Given the description of an element on the screen output the (x, y) to click on. 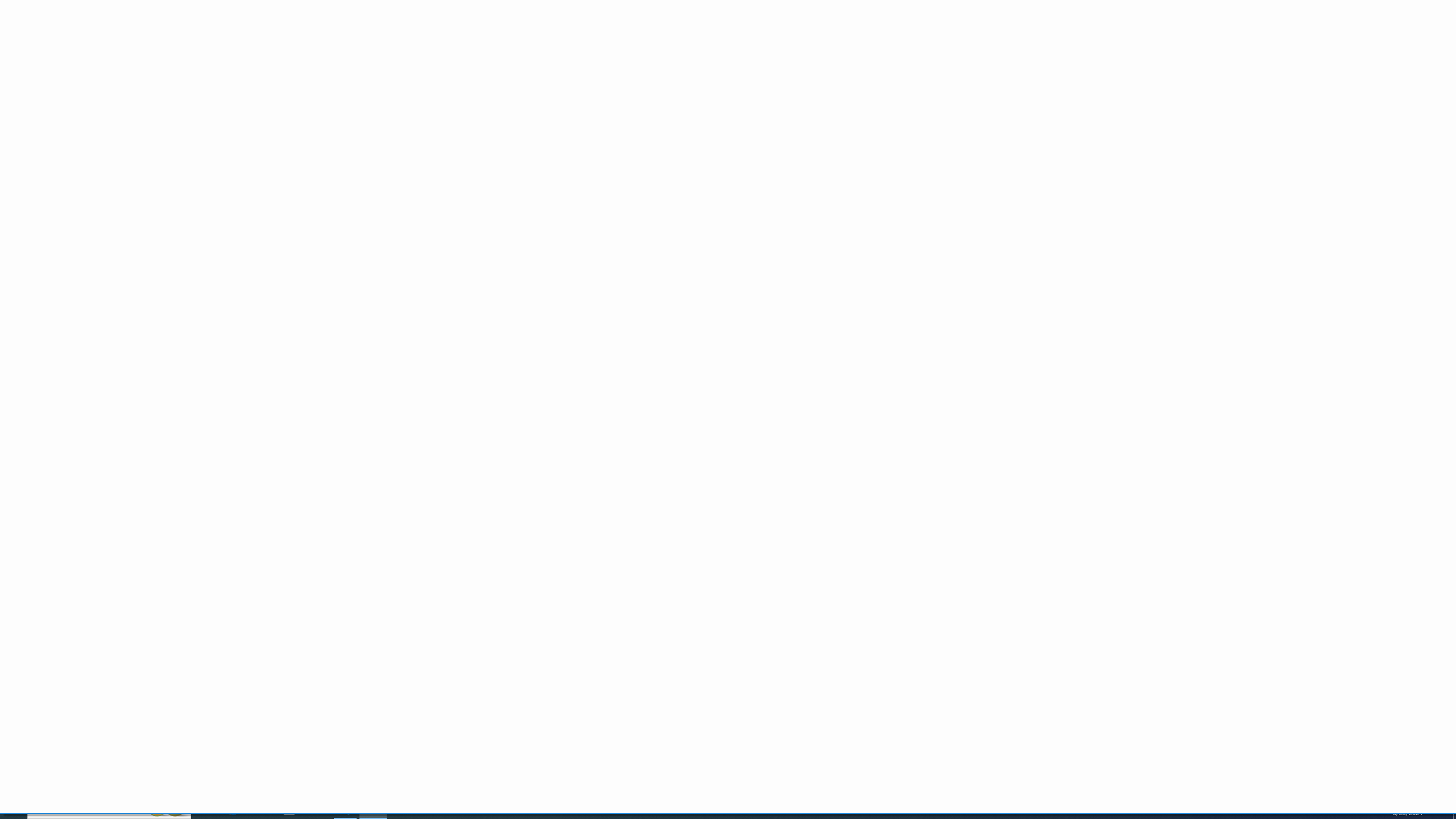
Merge & Center (369, 67)
Number Format (451, 49)
Format Cell Alignment (405, 85)
Paste (16, 48)
Row up (887, 45)
